Given the description of an element on the screen output the (x, y) to click on. 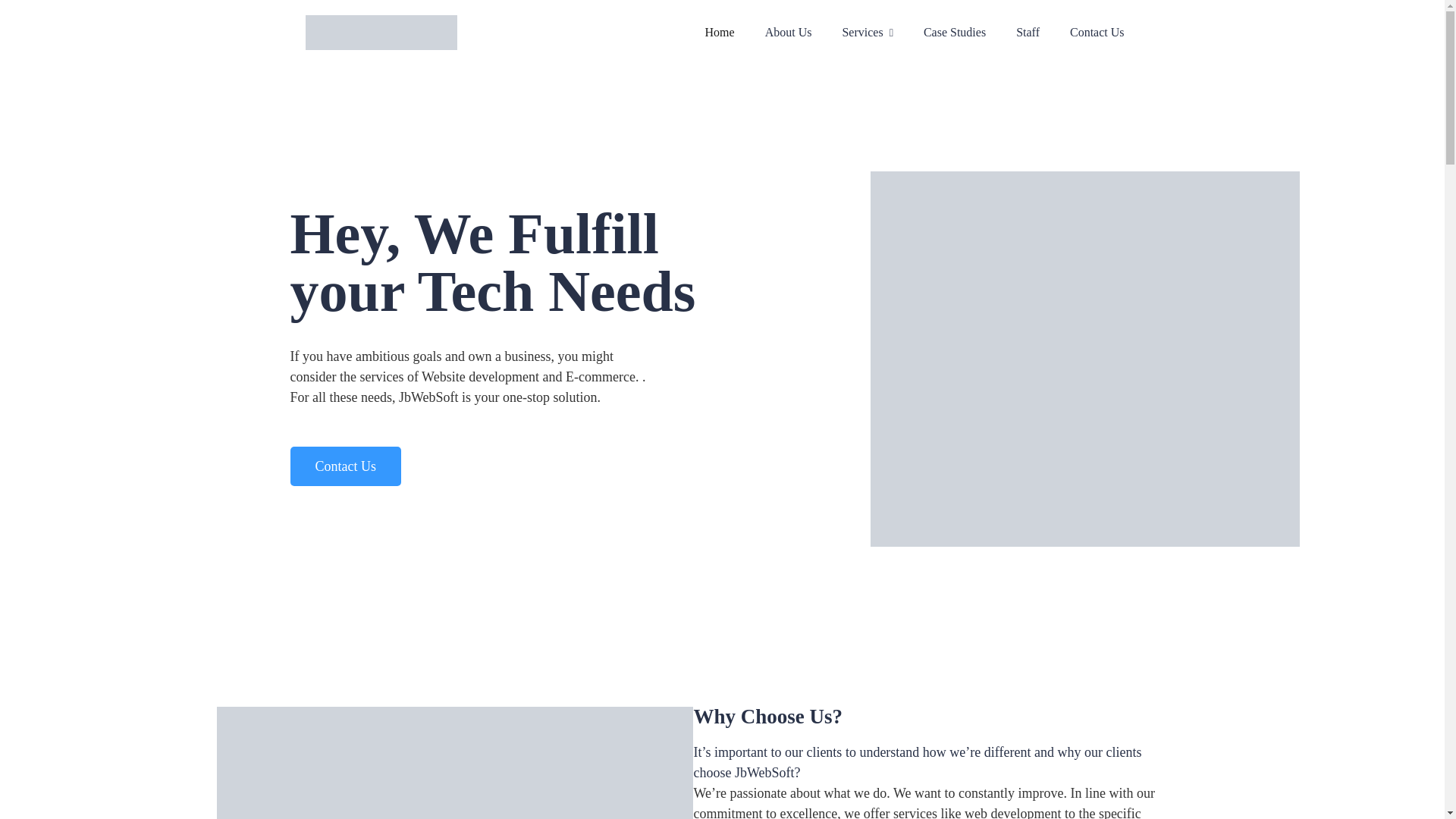
Home (719, 32)
Case Studies (954, 32)
Services (866, 32)
Contact Us (345, 466)
Contact Us (1097, 32)
About Us (788, 32)
